Given the description of an element on the screen output the (x, y) to click on. 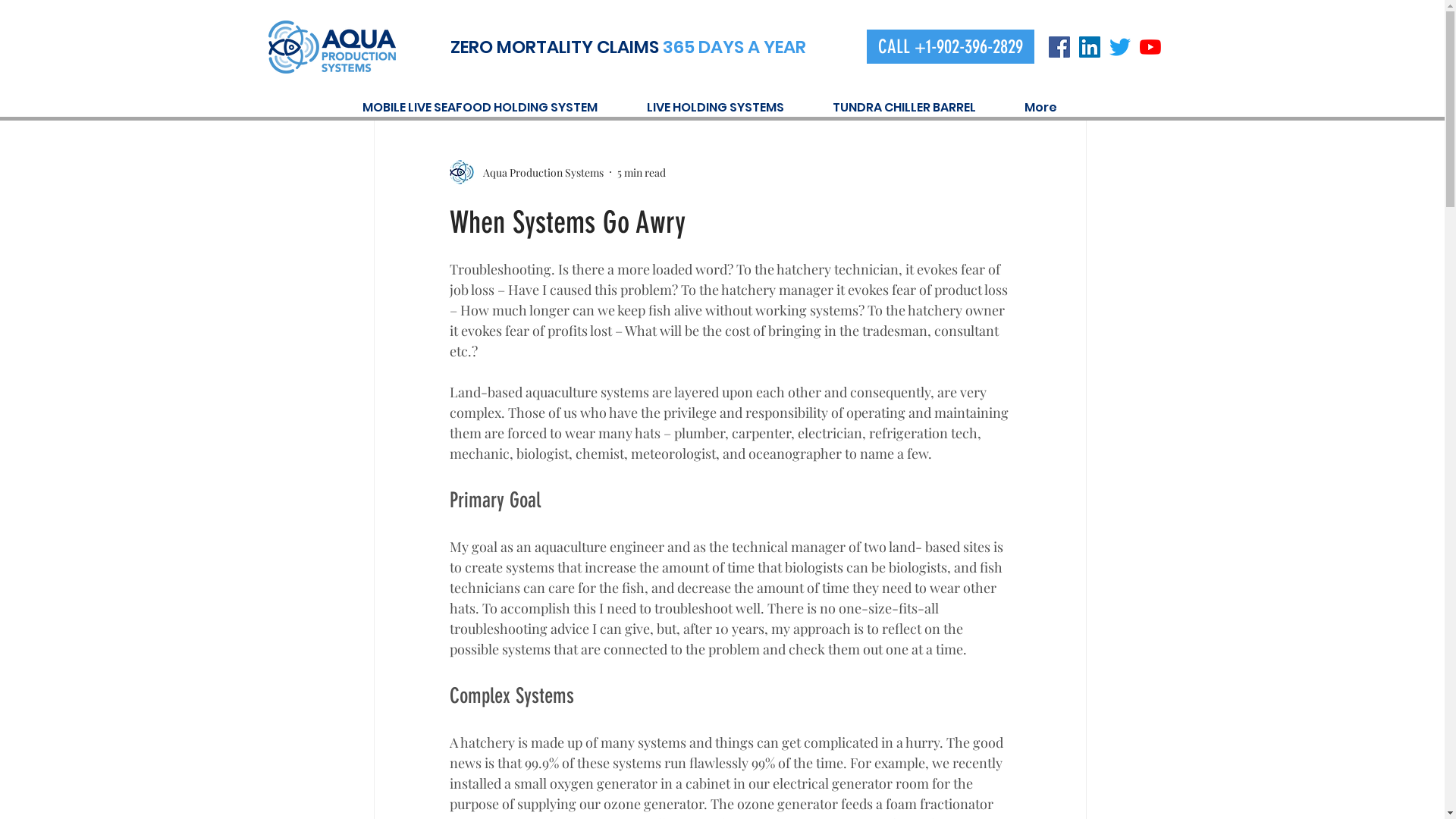
facebook pixel Element type: hover (337, 46)
MOBILE LIVE SEAFOOD HOLDING SYSTEM Element type: text (492, 107)
CALL +1-902-396-2829 Element type: text (949, 46)
TUNDRA CHILLER BARREL Element type: text (916, 107)
LIVE HOLDING SYSTEMS Element type: text (728, 107)
AQUA PRODUCTION SYSTEMS Element type: hover (331, 46)
